Given the description of an element on the screen output the (x, y) to click on. 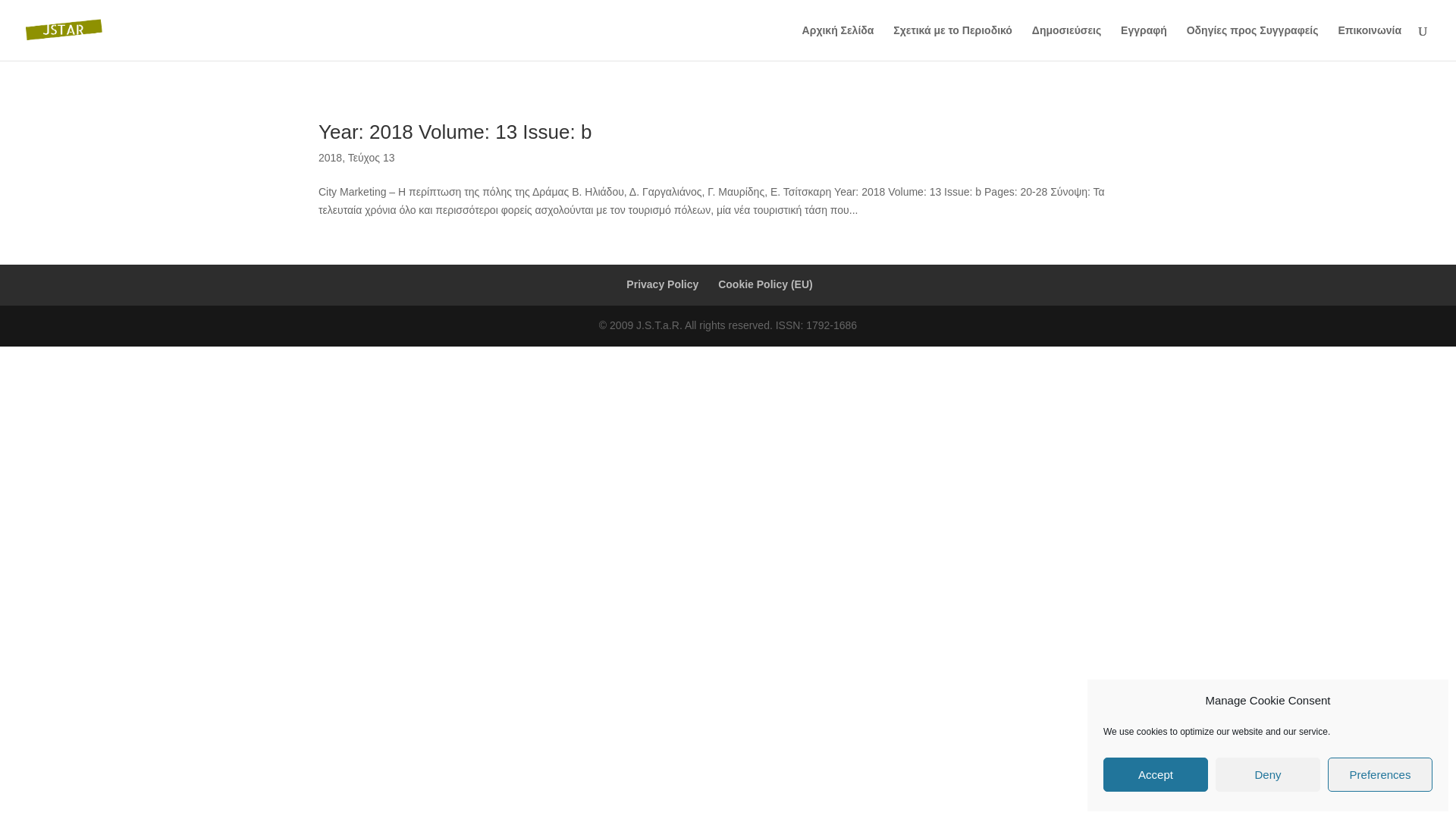
2018 (330, 157)
Privacy Policy (662, 284)
Year: 2018 Volume: 13 Issue: b (454, 131)
